Given the description of an element on the screen output the (x, y) to click on. 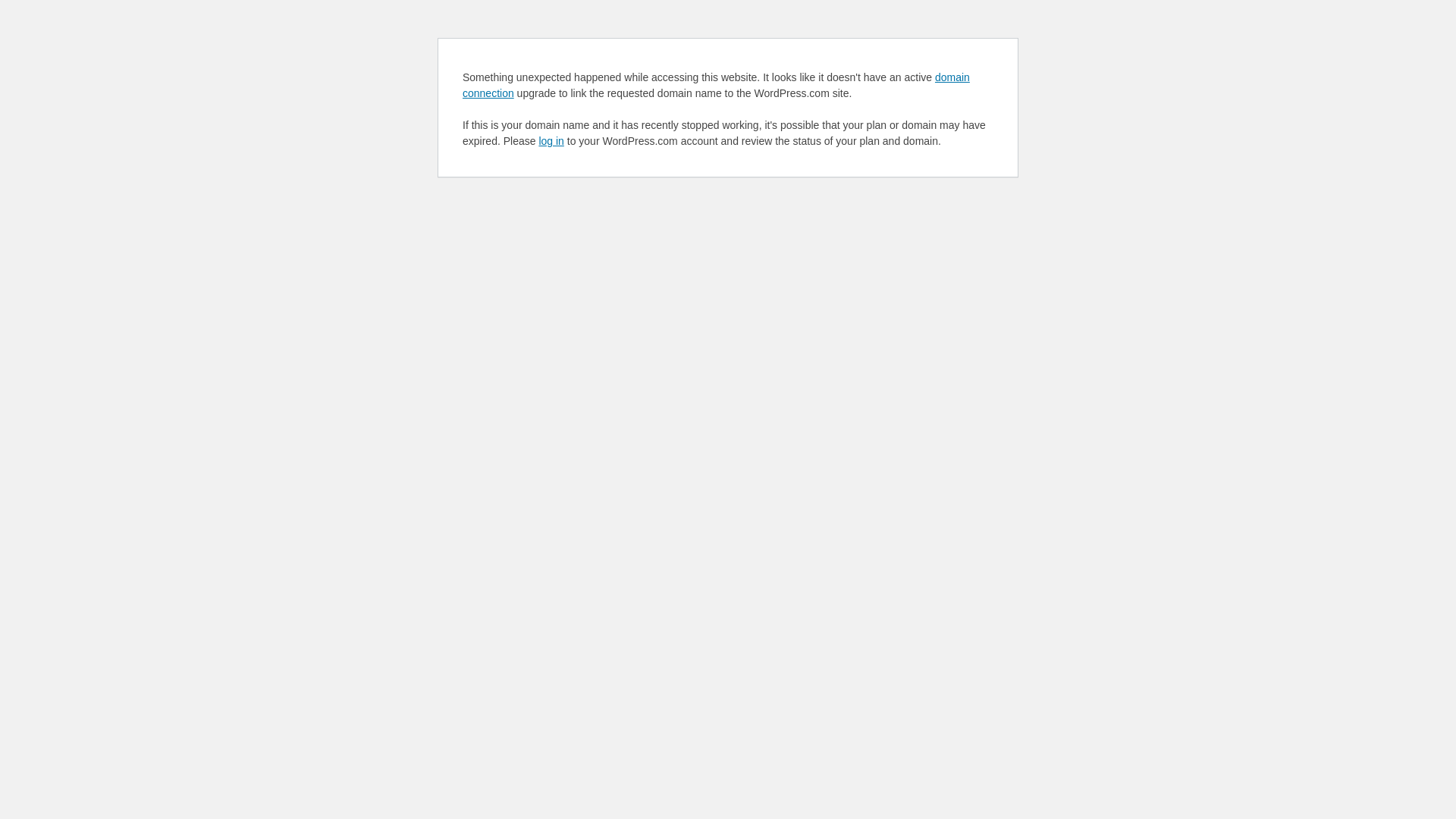
domain connection Element type: text (715, 85)
log in Element type: text (550, 140)
